Given the description of an element on the screen output the (x, y) to click on. 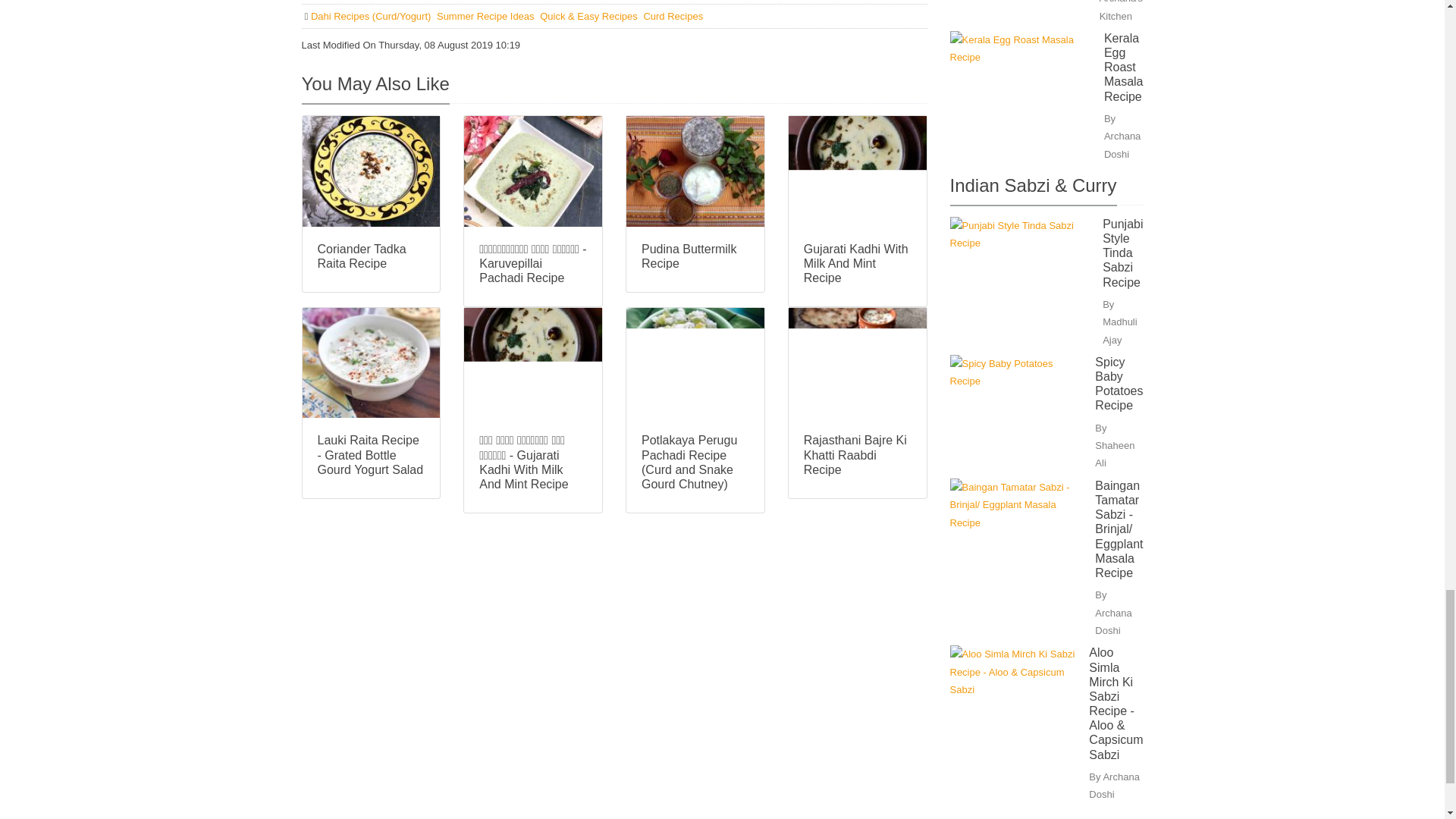
Curd Recipes (673, 16)
Coriander Tadka Raita Recipe (371, 256)
Pudina Buttermilk Recipe (695, 256)
Summer Recipe Ideas (486, 16)
